Given the description of an element on the screen output the (x, y) to click on. 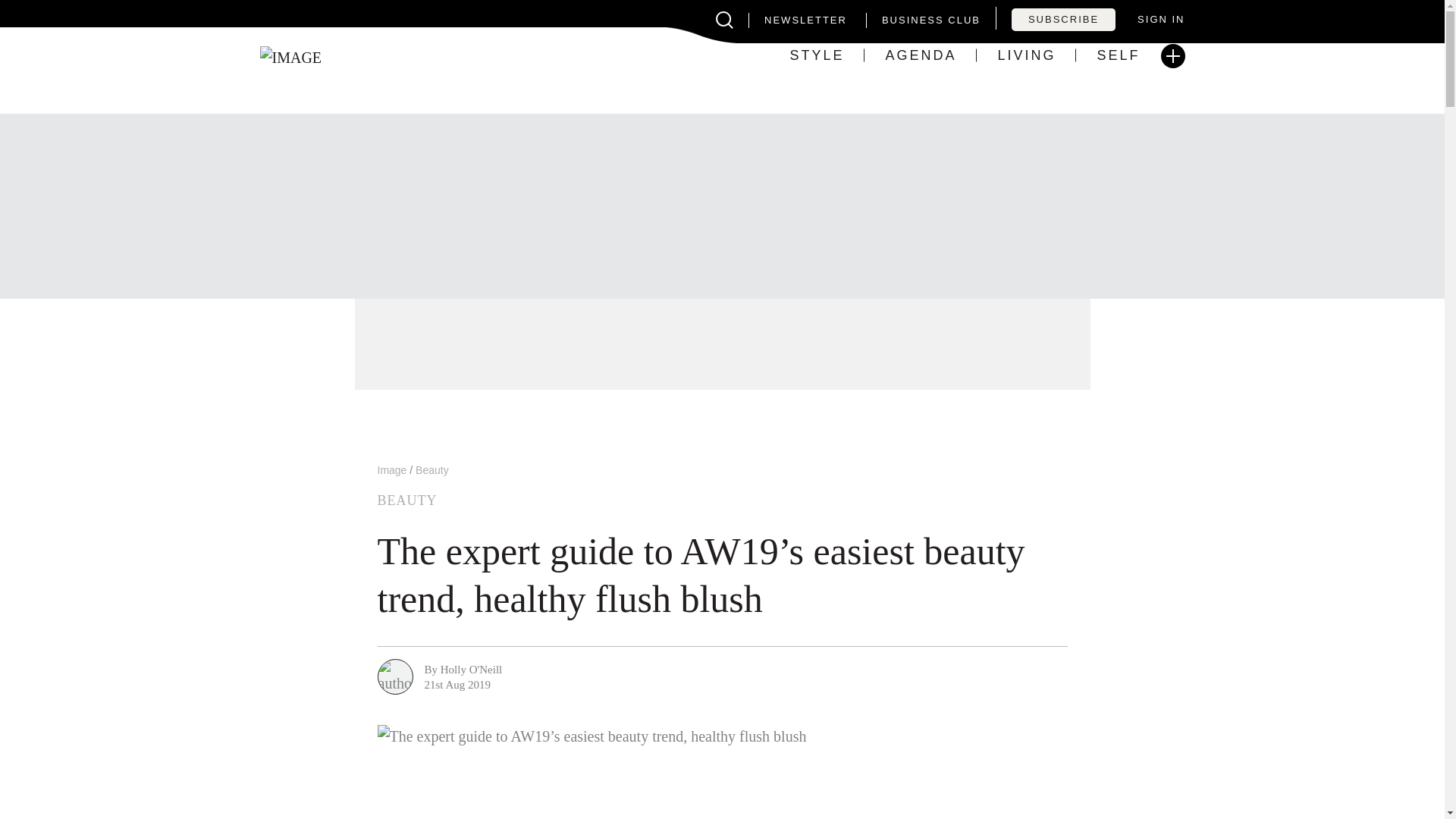
SIGN IN (1161, 19)
STYLE (816, 56)
NEWSLETTER (797, 20)
SUBSCRIBE (1063, 19)
AGENDA (919, 56)
SELF (1117, 56)
LIVING (1025, 56)
BUSINESS CLUB (922, 20)
